Given the description of an element on the screen output the (x, y) to click on. 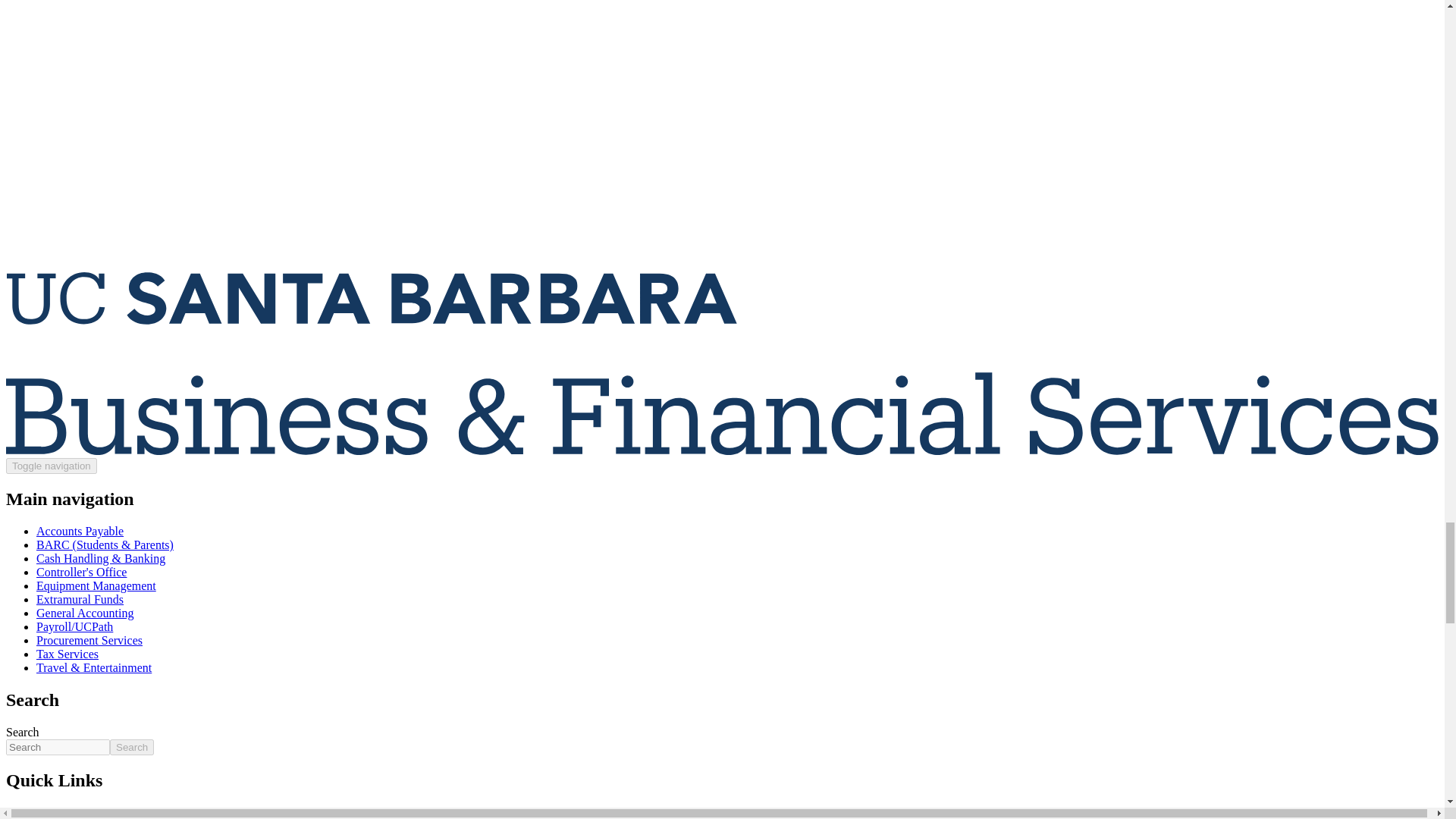
Accounts Payable (79, 530)
Extramural Funds (79, 599)
Toggle navigation (51, 465)
Tax Services (67, 653)
Controller's Office (81, 571)
Search (132, 747)
Equipment Management (95, 585)
Enter the terms you wish to search for. (57, 747)
Procurement Services (89, 640)
